Given the description of an element on the screen output the (x, y) to click on. 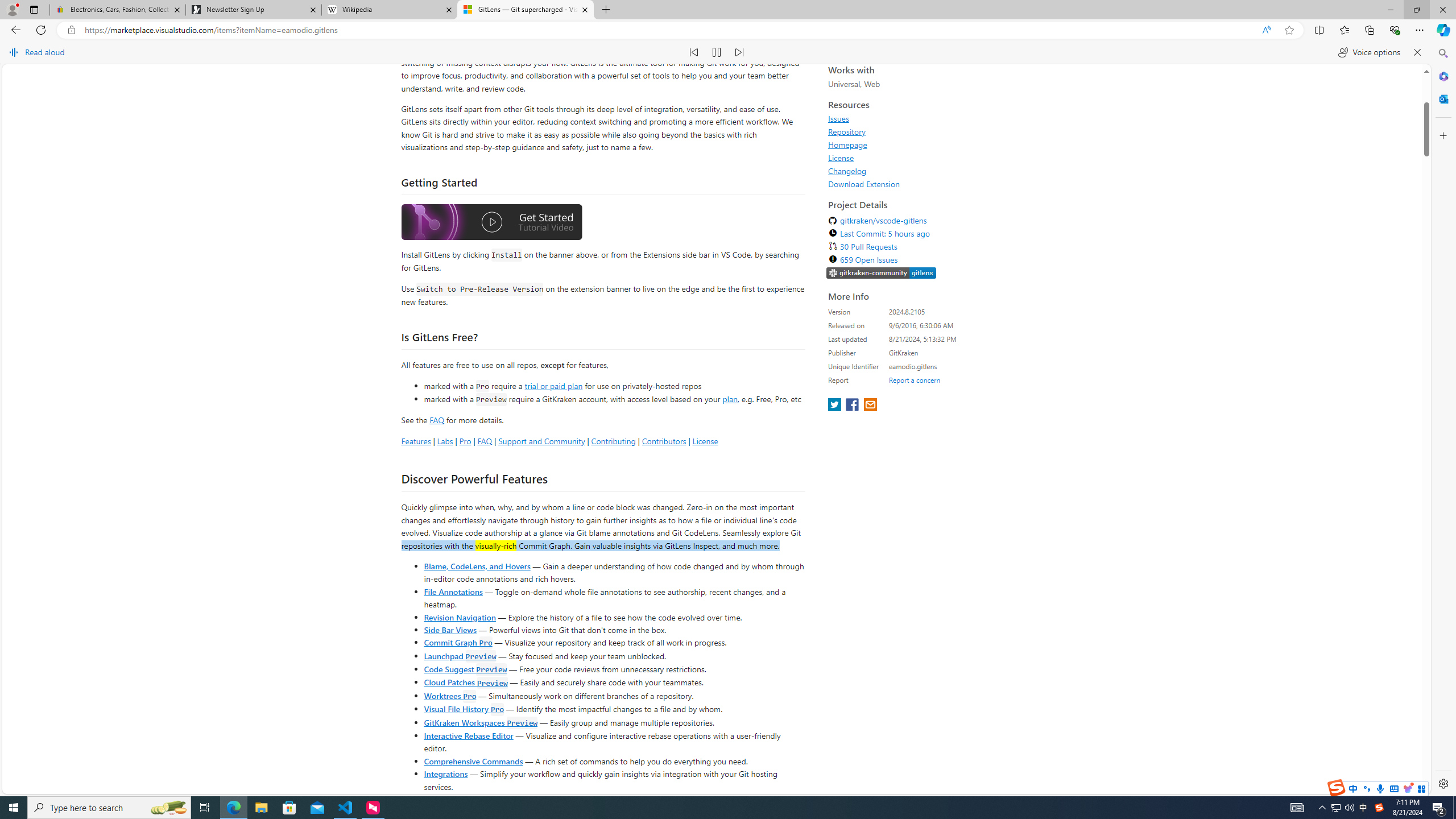
Issues (838, 304)
Visual Studio Code (603, 215)
License (840, 344)
Support and Community (541, 627)
trial or paid plan (553, 572)
Blame, CodeLens, and Hovers (476, 752)
Download Extension (931, 370)
Watch the GitLens Getting Started video (491, 409)
Q & A (552, 115)
open-source (498, 215)
